Given the description of an element on the screen output the (x, y) to click on. 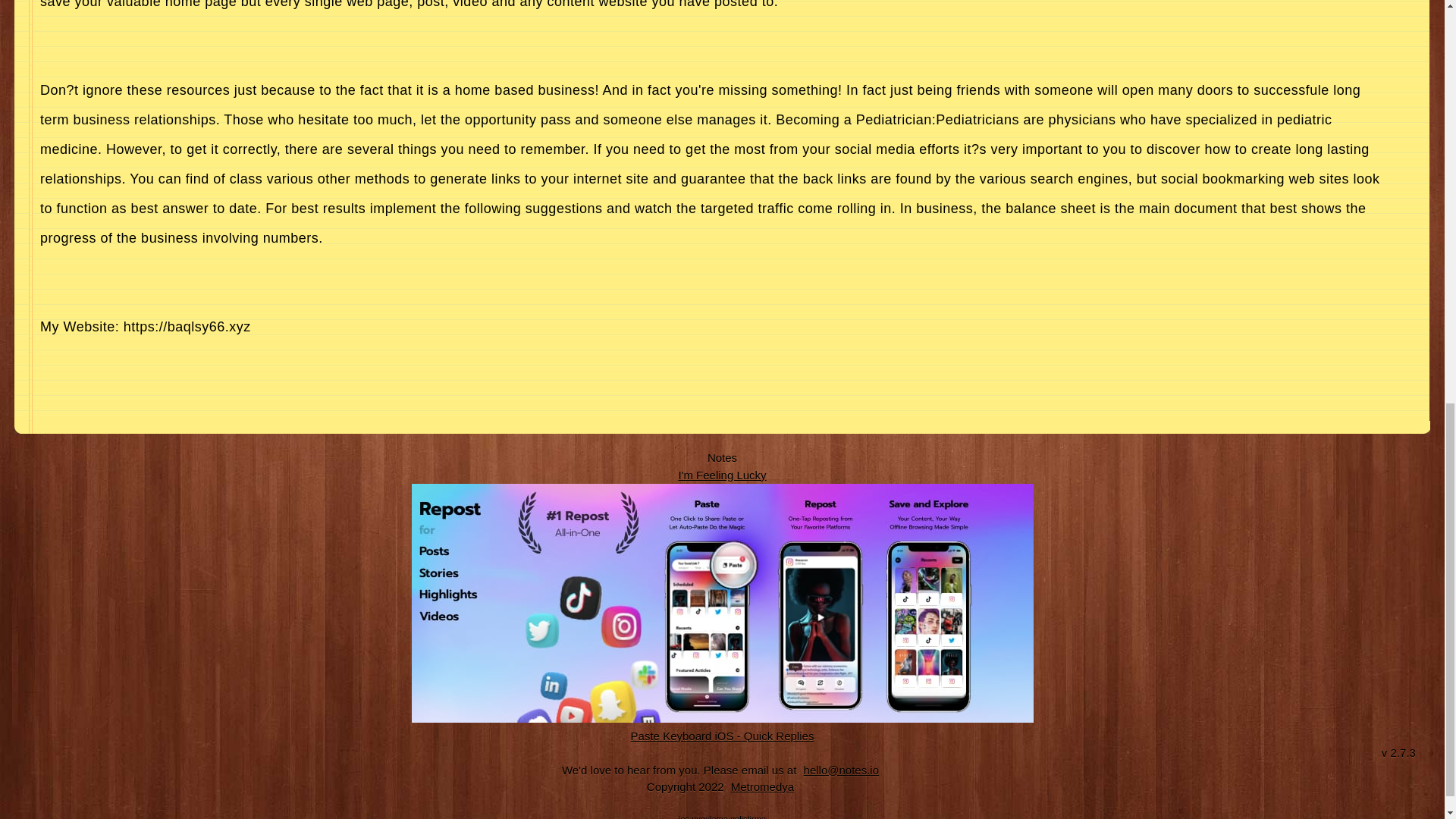
I'm Feeling Lucky (722, 474)
Feeling Luck (722, 474)
Quick Replies iOS App Web Site (722, 735)
Metromedya (761, 786)
Paste Keyboard iOS - Quick Replies (722, 735)
